Given the description of an element on the screen output the (x, y) to click on. 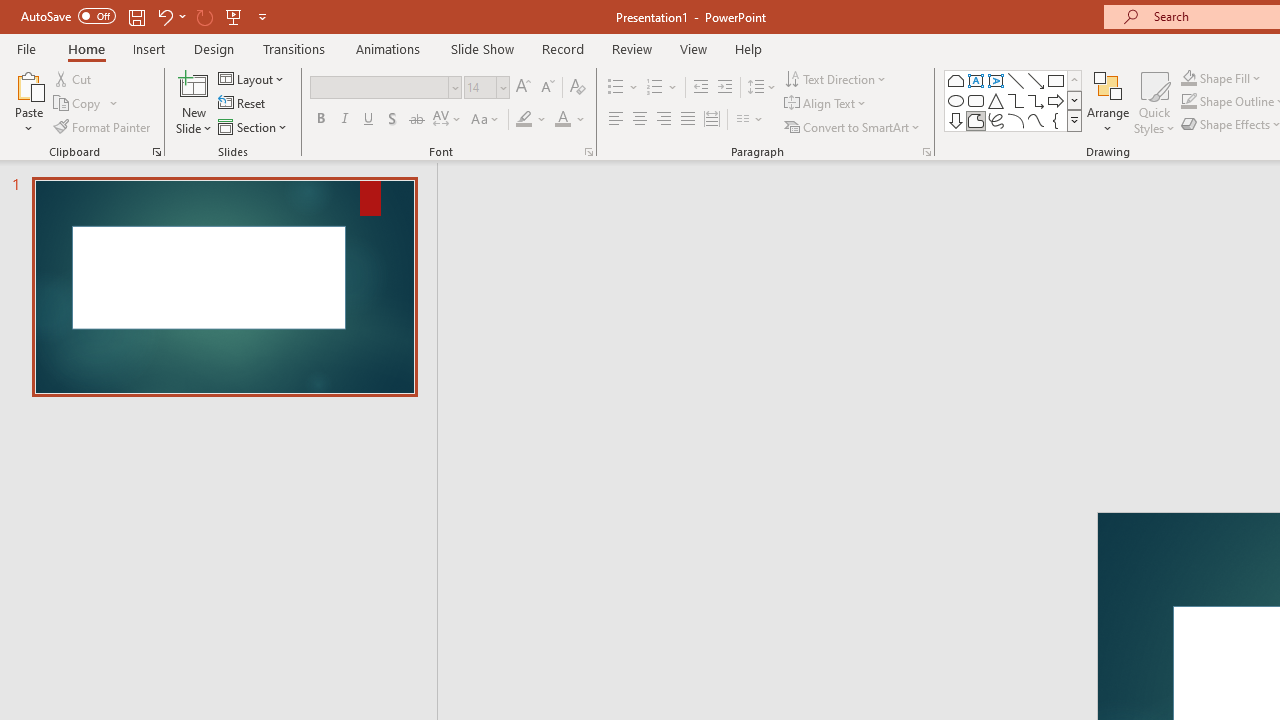
Rectangle: Top Corners Snipped (955, 80)
